Given the description of an element on the screen output the (x, y) to click on. 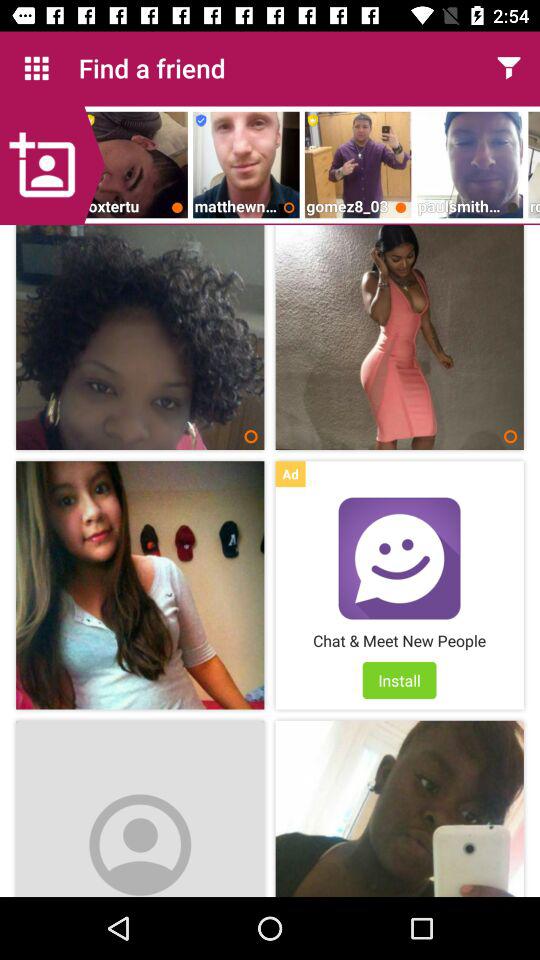
set filters (508, 67)
